Given the description of an element on the screen output the (x, y) to click on. 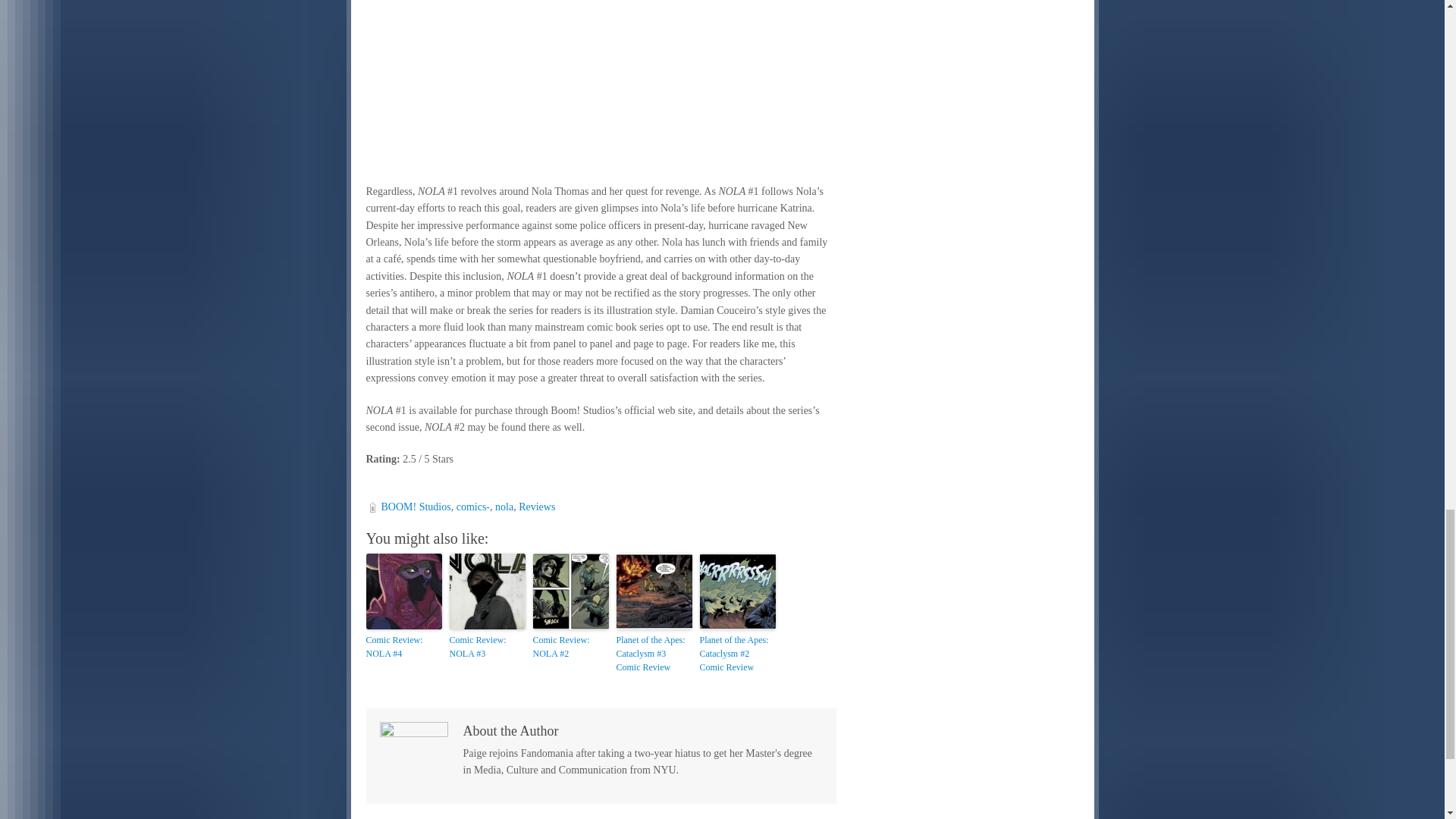
nola (504, 506)
comics- (473, 506)
BOOM! Studios (414, 506)
nola1-3 (600, 84)
Reviews (536, 506)
